Given the description of an element on the screen output the (x, y) to click on. 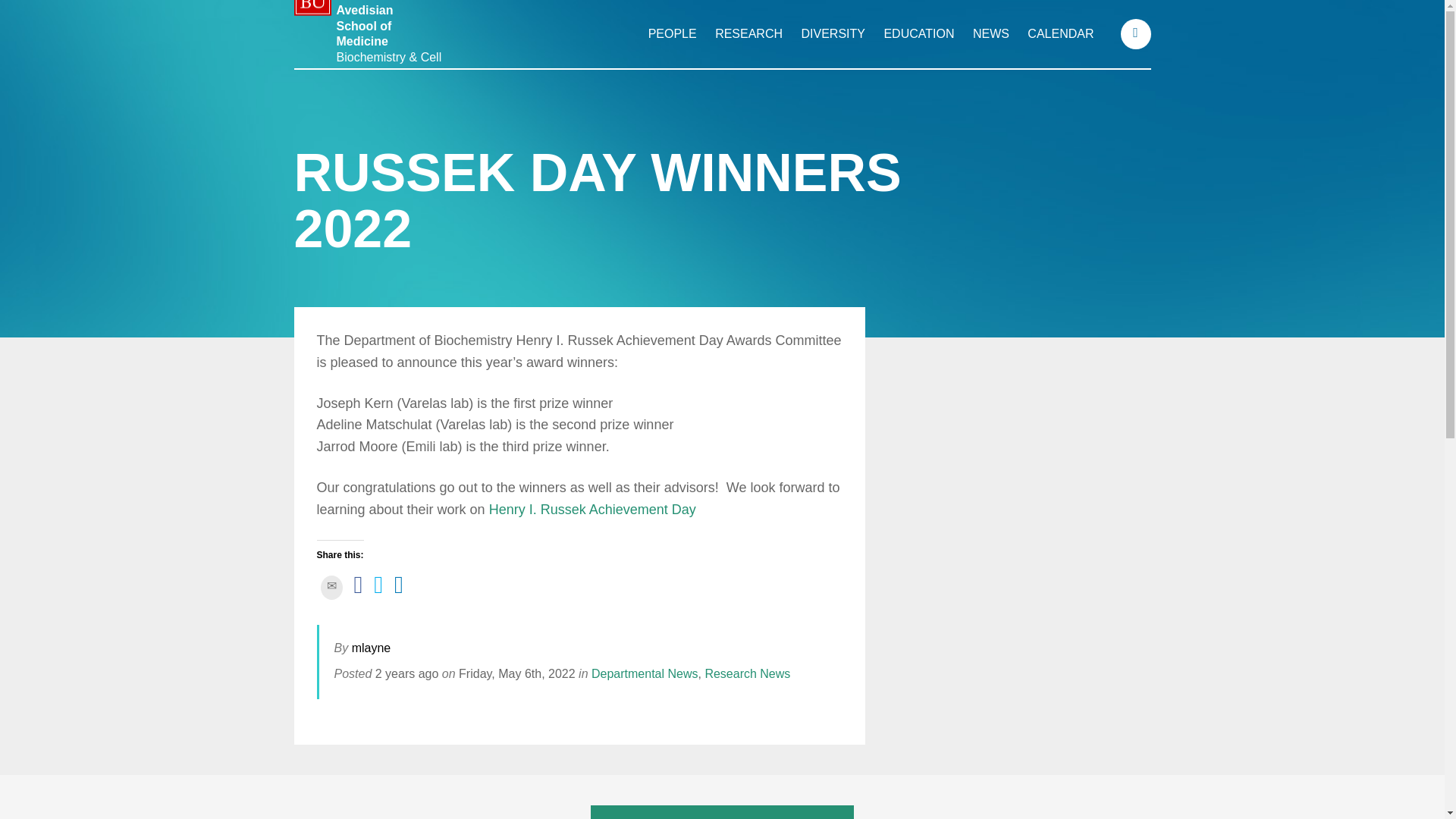
Navigate to: Education (918, 33)
CALENDAR (1060, 33)
Click to email this to a friend (331, 587)
RESEARCH (748, 33)
Research News (747, 673)
Henry I. Russek Achievement Day (592, 509)
EDUCATION (918, 33)
Navigate to: Research (748, 33)
DIVERSITY (832, 33)
Departmental News (644, 673)
